Given the description of an element on the screen output the (x, y) to click on. 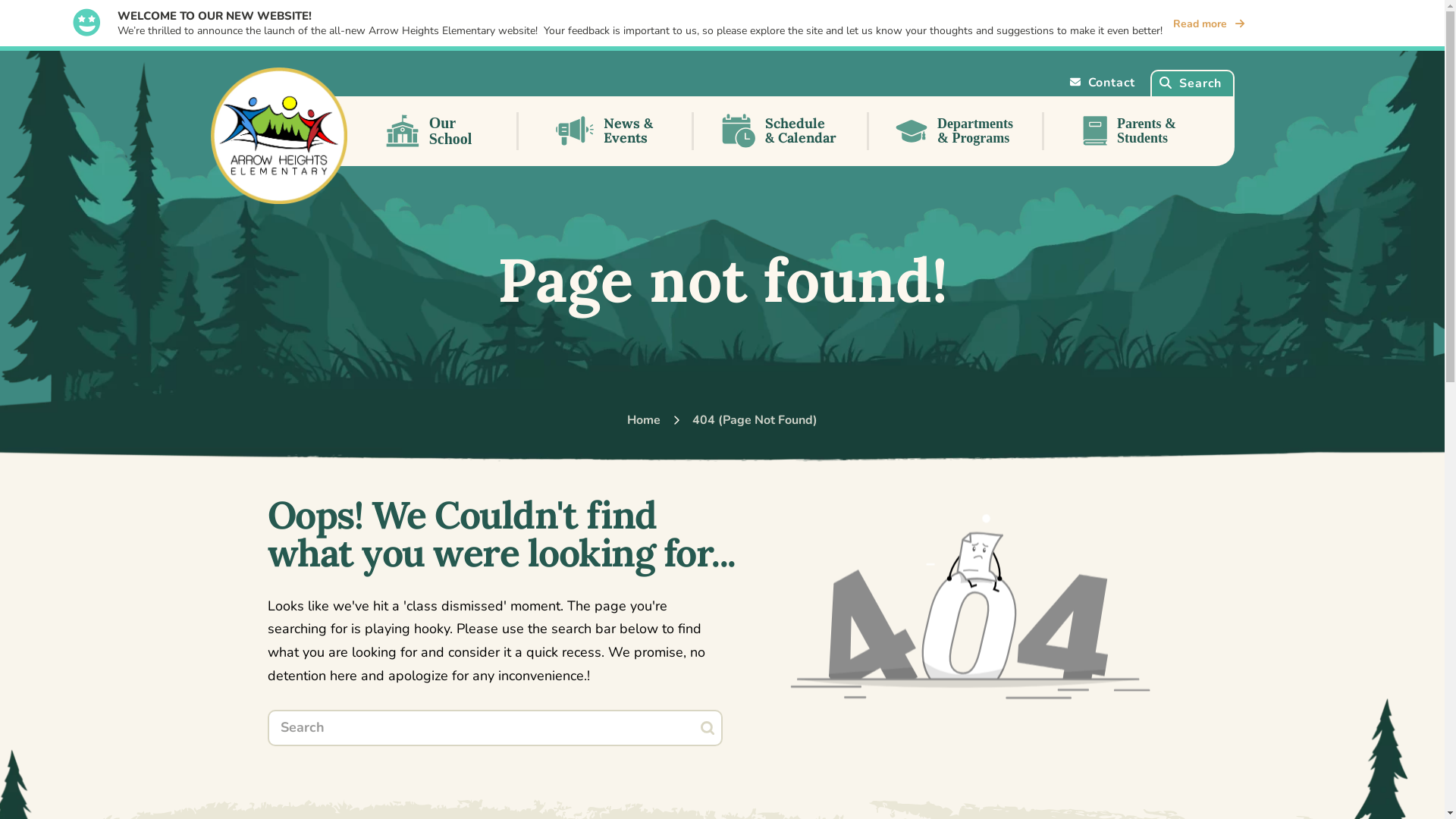
Contact Element type: text (1102, 82)
Home Element type: text (643, 420)
News &
Events Element type: text (605, 130)
404 (Page Not Found) Element type: text (754, 420)
Schedule
& Calendar Element type: text (780, 130)
Read more Element type: text (1209, 24)
Submit Element type: text (707, 727)
